Given the description of an element on the screen output the (x, y) to click on. 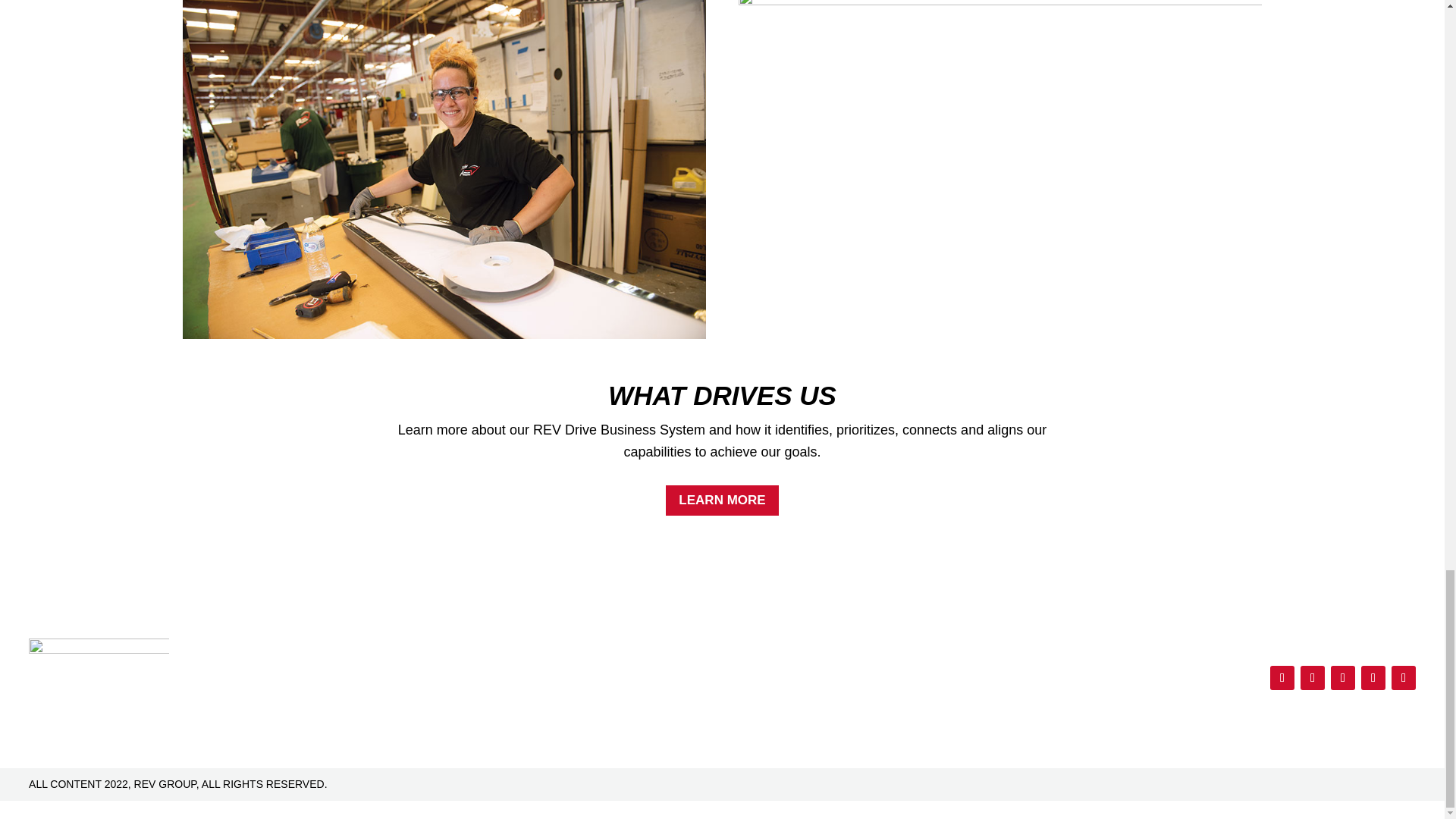
Follow on X (1312, 677)
Follow on LinkedIn (1403, 677)
REV 2-Color logo Red and White with Tag (98, 669)
Follow on Instagram (1342, 677)
Follow on Facebook (1281, 677)
Follow on Youtube (1373, 677)
